Given the description of an element on the screen output the (x, y) to click on. 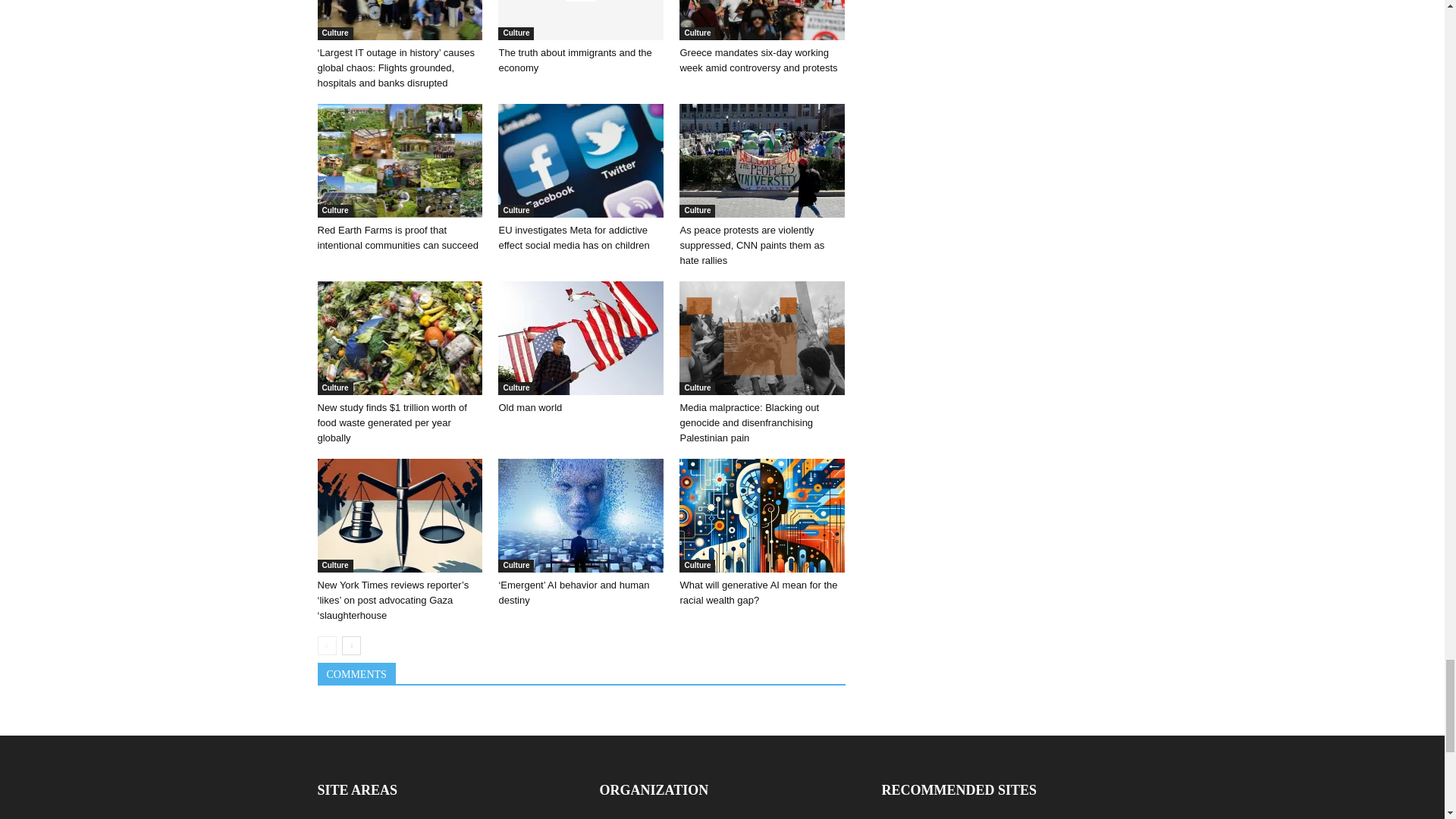
The truth about immigrants and the economy (580, 20)
The truth about immigrants and the economy (573, 59)
